Given the description of an element on the screen output the (x, y) to click on. 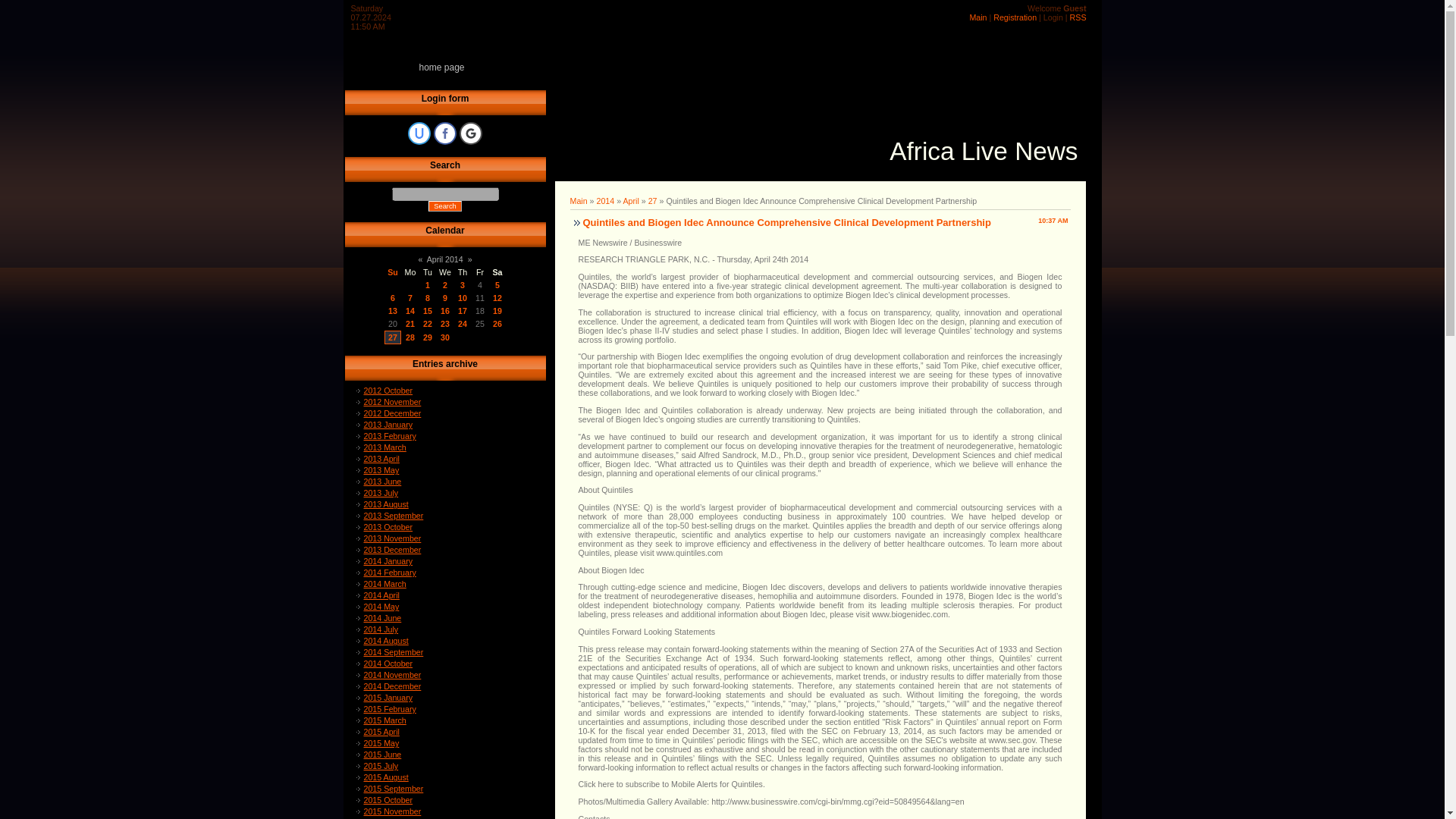
7 (409, 297)
17 (462, 310)
2 (444, 284)
2012 December (393, 412)
13 (392, 310)
4 Messages (392, 297)
Log in with Facebook (445, 133)
3 Messages (409, 297)
Main (978, 17)
RSS (1078, 17)
21 (410, 323)
4 Messages (462, 310)
3 Messages (444, 284)
Search (444, 205)
24 (462, 323)
